Given the description of an element on the screen output the (x, y) to click on. 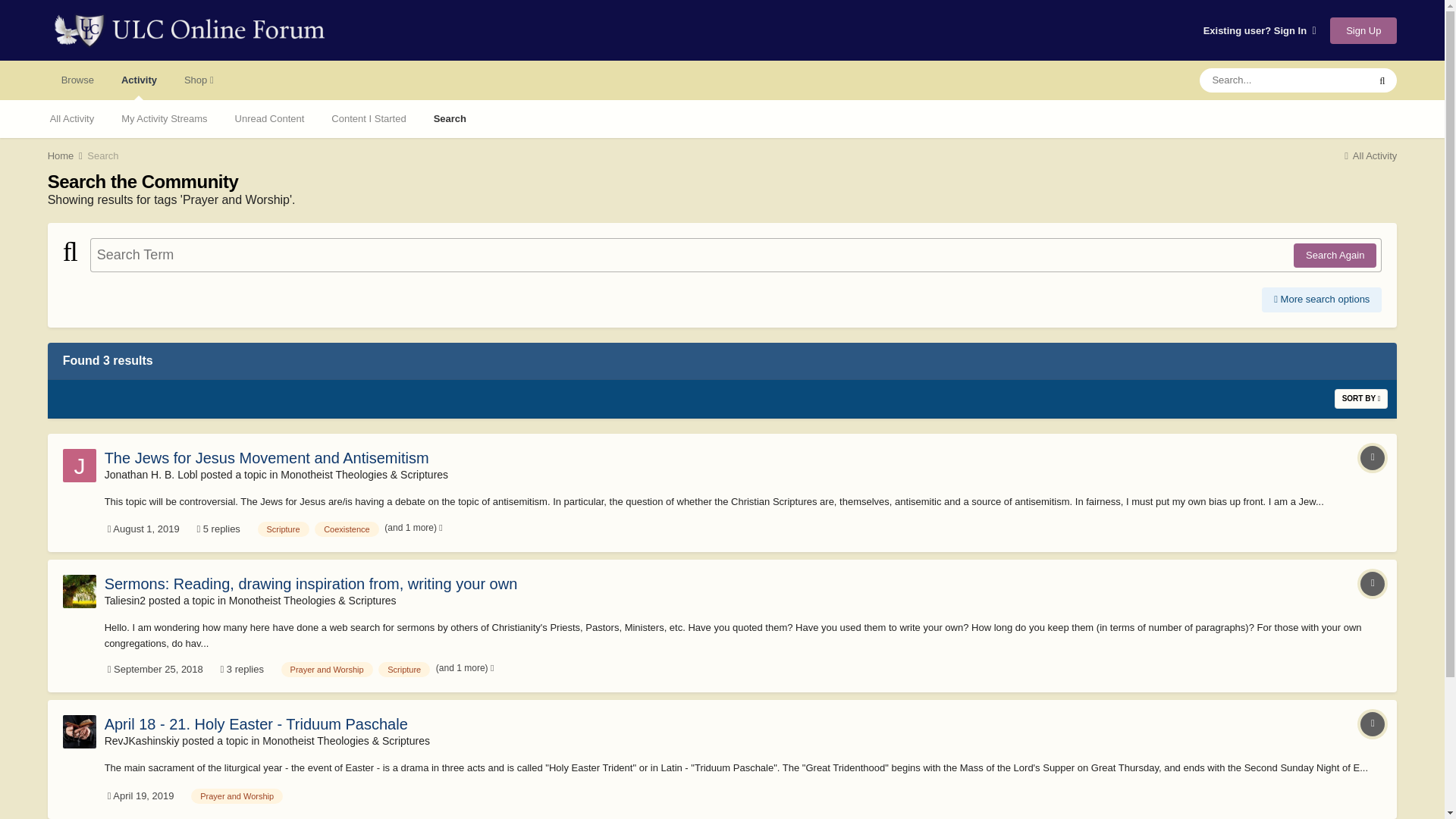
Go to Jonathan H. B. Lobl's profile (79, 465)
Search (102, 155)
Unread Content (269, 118)
Go to Taliesin2's profile (124, 600)
Go to Taliesin2's profile (79, 591)
Topic (1371, 583)
Content I Started (368, 118)
Home (66, 155)
Shop (198, 79)
Find other content tagged with 'Coexistence' (346, 529)
Find other content tagged with 'Scripture' (282, 529)
All Activity (71, 118)
My Activity Streams (164, 118)
Browse (77, 79)
Find other content tagged with 'Prayer and Worship' (326, 669)
